Given the description of an element on the screen output the (x, y) to click on. 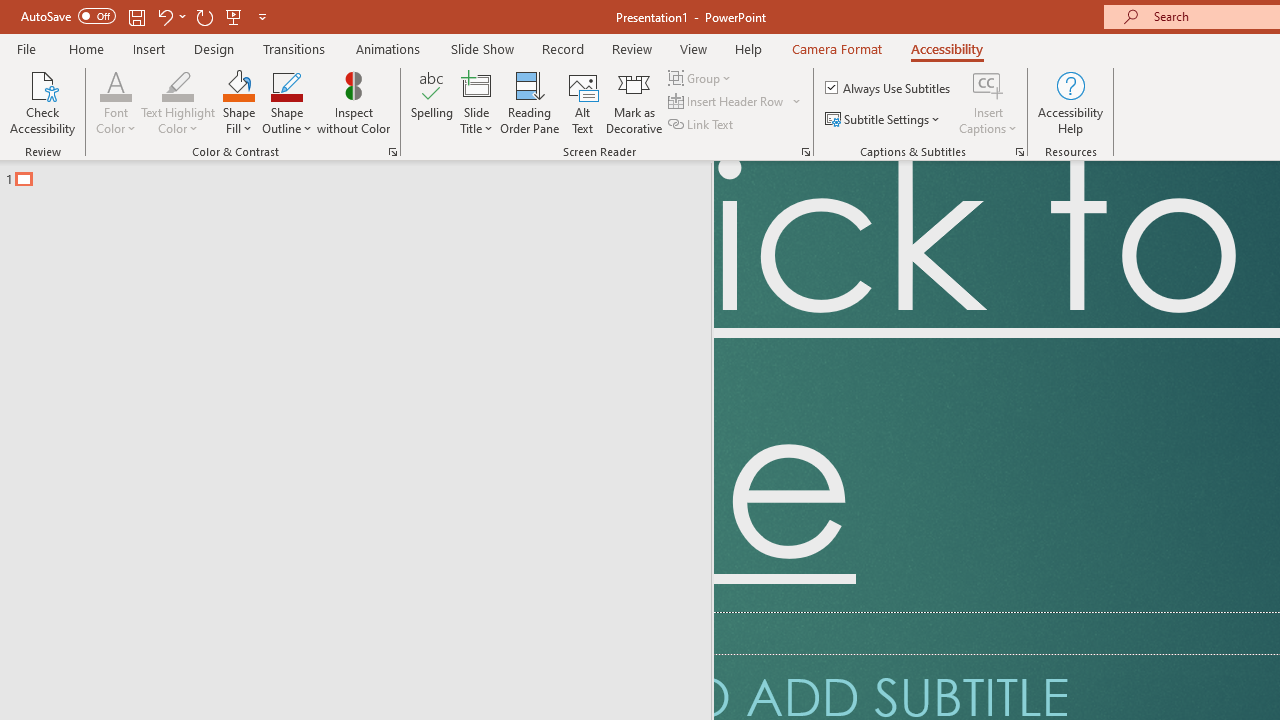
Quick Access Toolbar (145, 16)
Insert Header Row (735, 101)
Mark as Decorative (634, 102)
Insert Header Row (727, 101)
Screen Reader (805, 151)
Text Highlight Color (178, 84)
Insert (149, 48)
Design (214, 48)
Slide Title (476, 102)
